Given the description of an element on the screen output the (x, y) to click on. 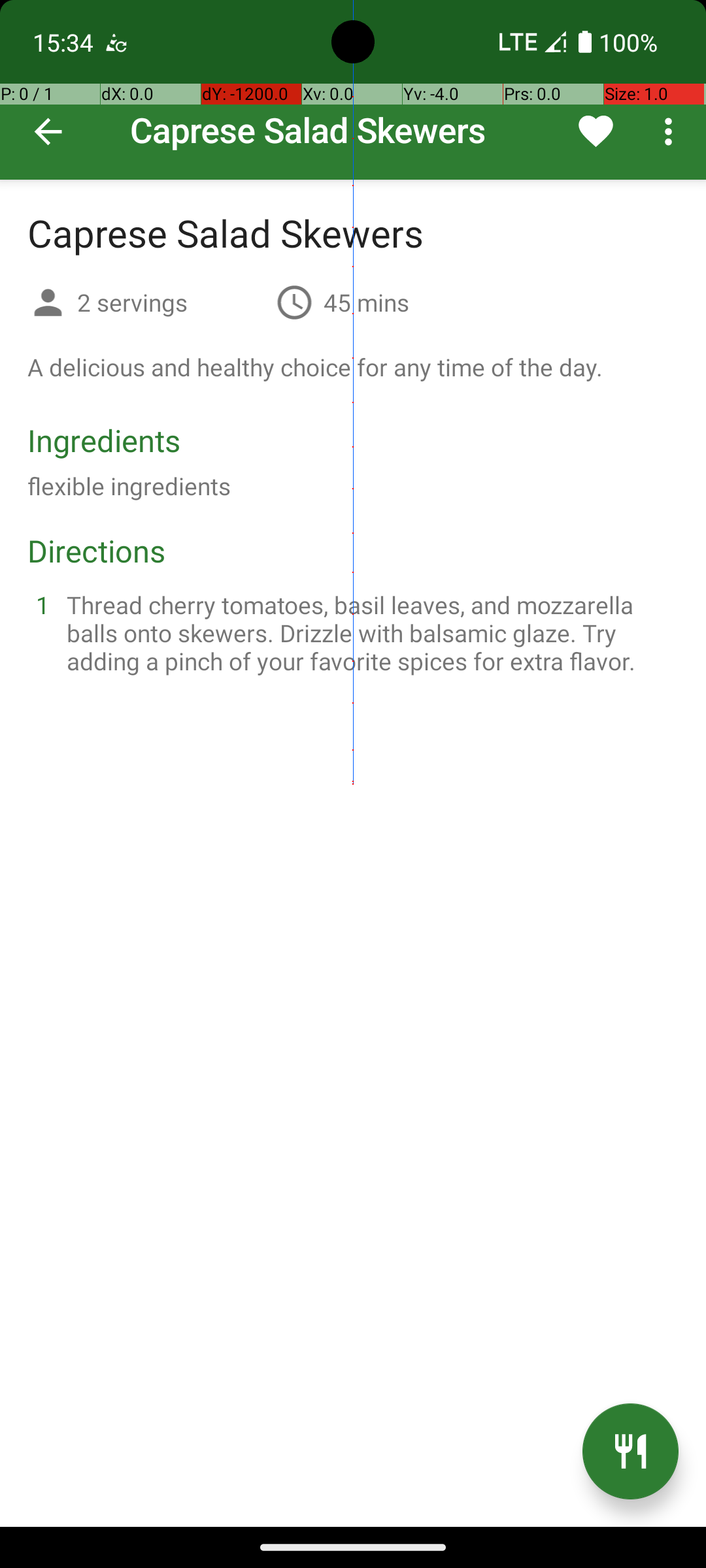
Thread cherry tomatoes, basil leaves, and mozzarella balls onto skewers. Drizzle with balsamic glaze. Try adding a pinch of your favorite spices for extra flavor. Element type: android.widget.TextView (368, 632)
